Given the description of an element on the screen output the (x, y) to click on. 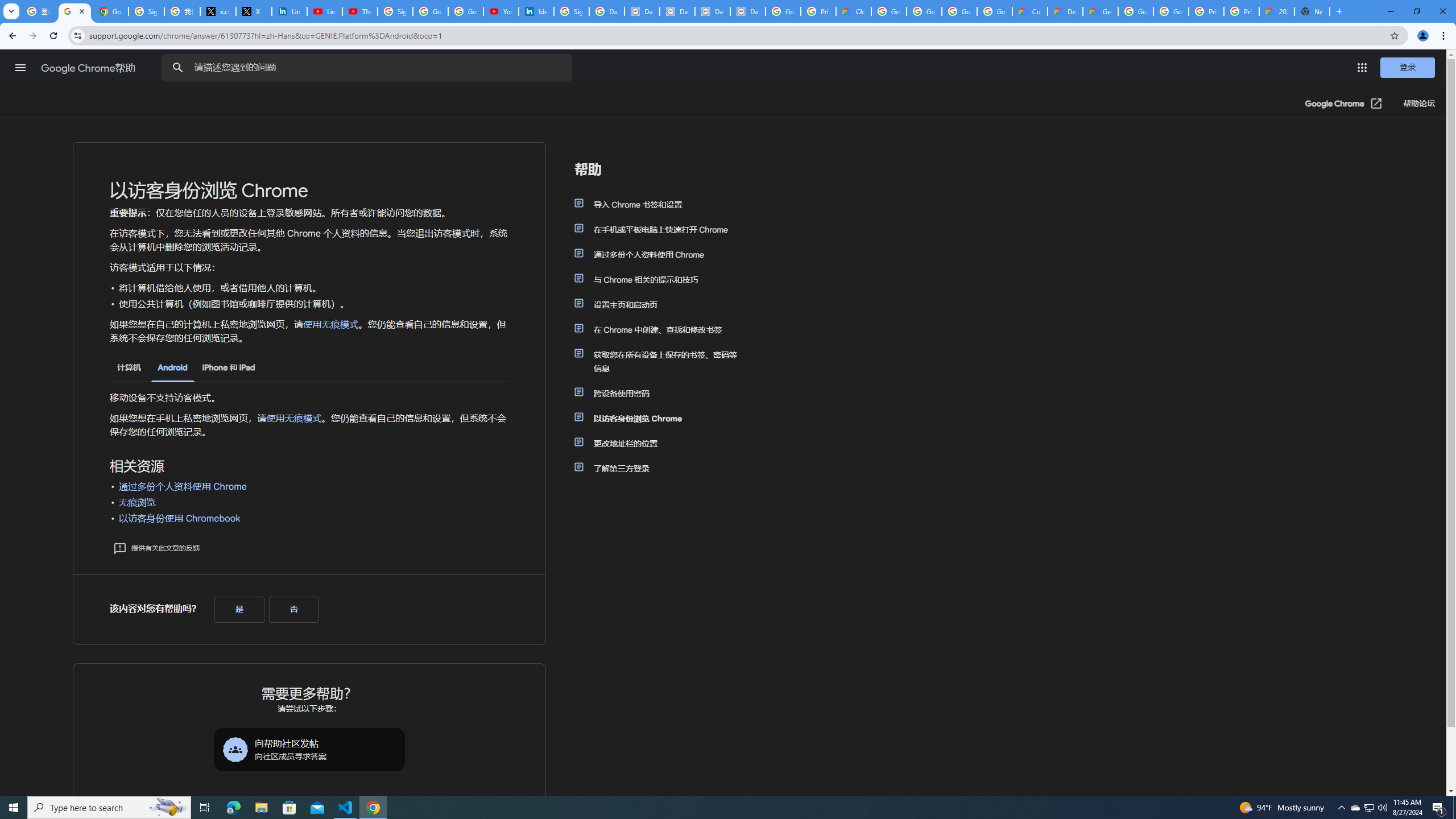
Data Privacy Framework (677, 11)
Cloud Data Processing Addendum | Google Cloud (853, 11)
